Given the description of an element on the screen output the (x, y) to click on. 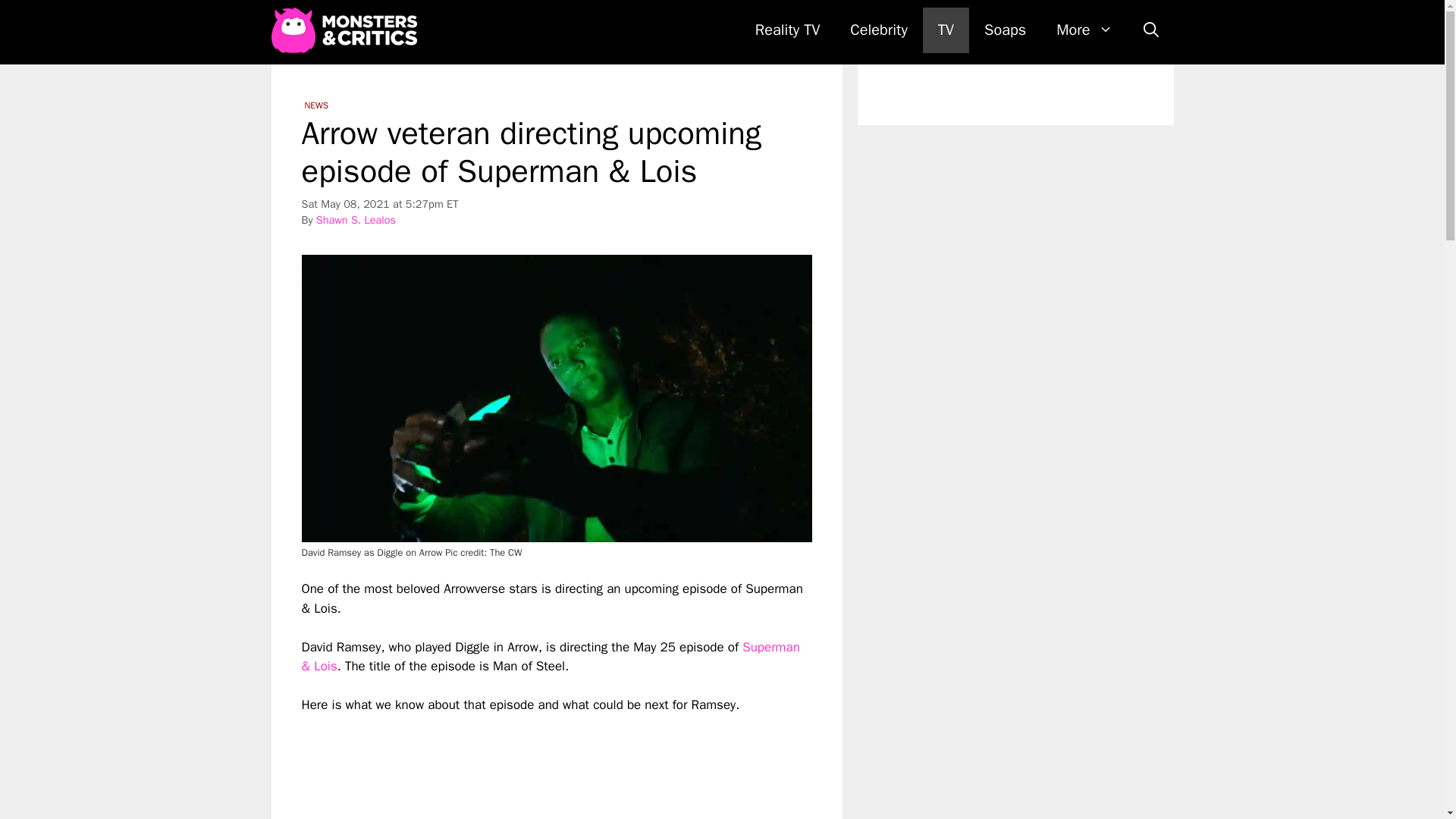
TV (946, 30)
Monsters and Critics (347, 30)
Monsters and Critics (343, 30)
Celebrity (877, 30)
More (1083, 30)
Shawn S. Lealos (355, 219)
YouTube video player (513, 766)
Soaps (1005, 30)
Reality TV (787, 30)
View all posts by Shawn S. Lealos (355, 219)
